Given the description of an element on the screen output the (x, y) to click on. 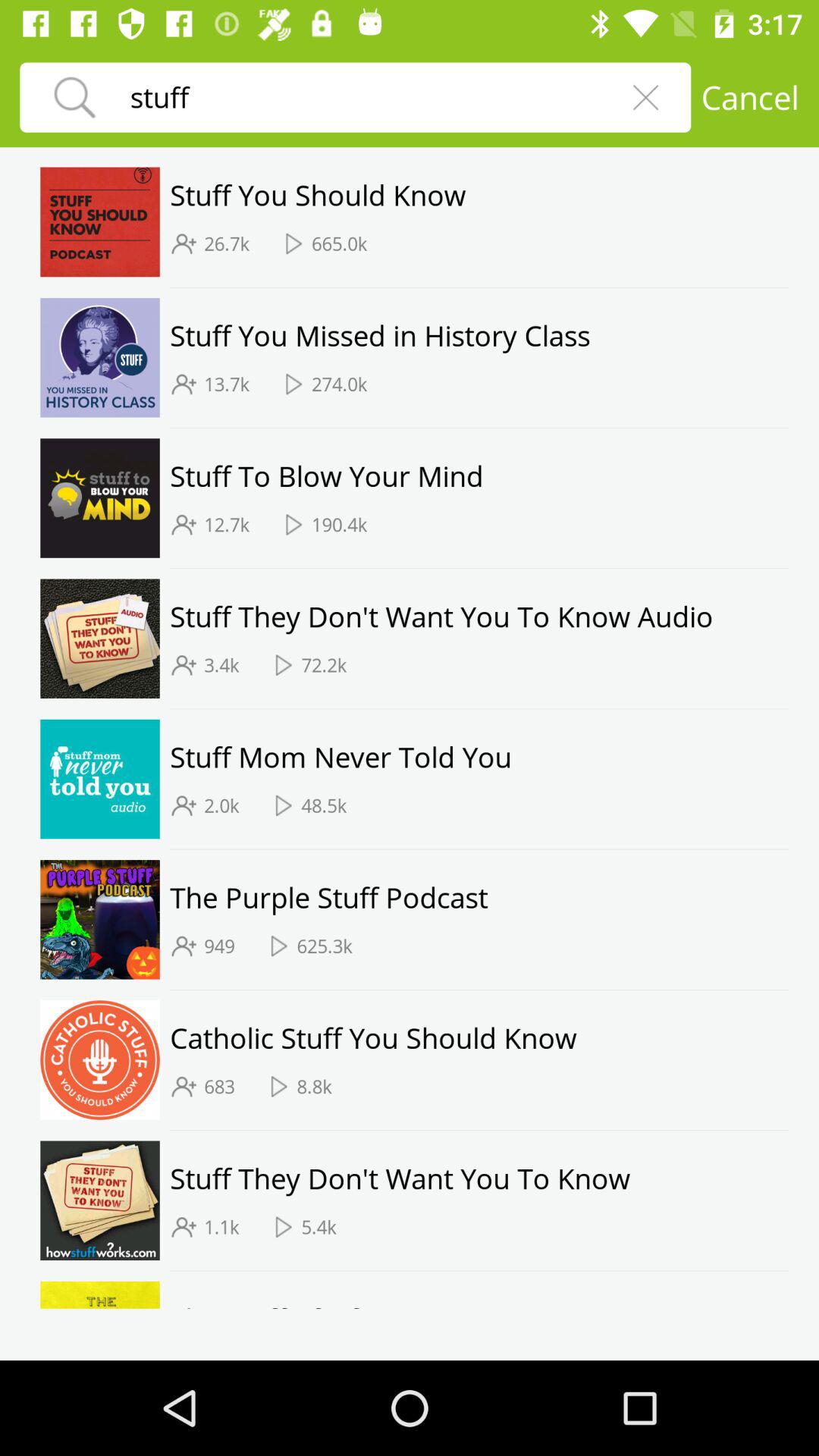
flip until 683 item (219, 1086)
